Given the description of an element on the screen output the (x, y) to click on. 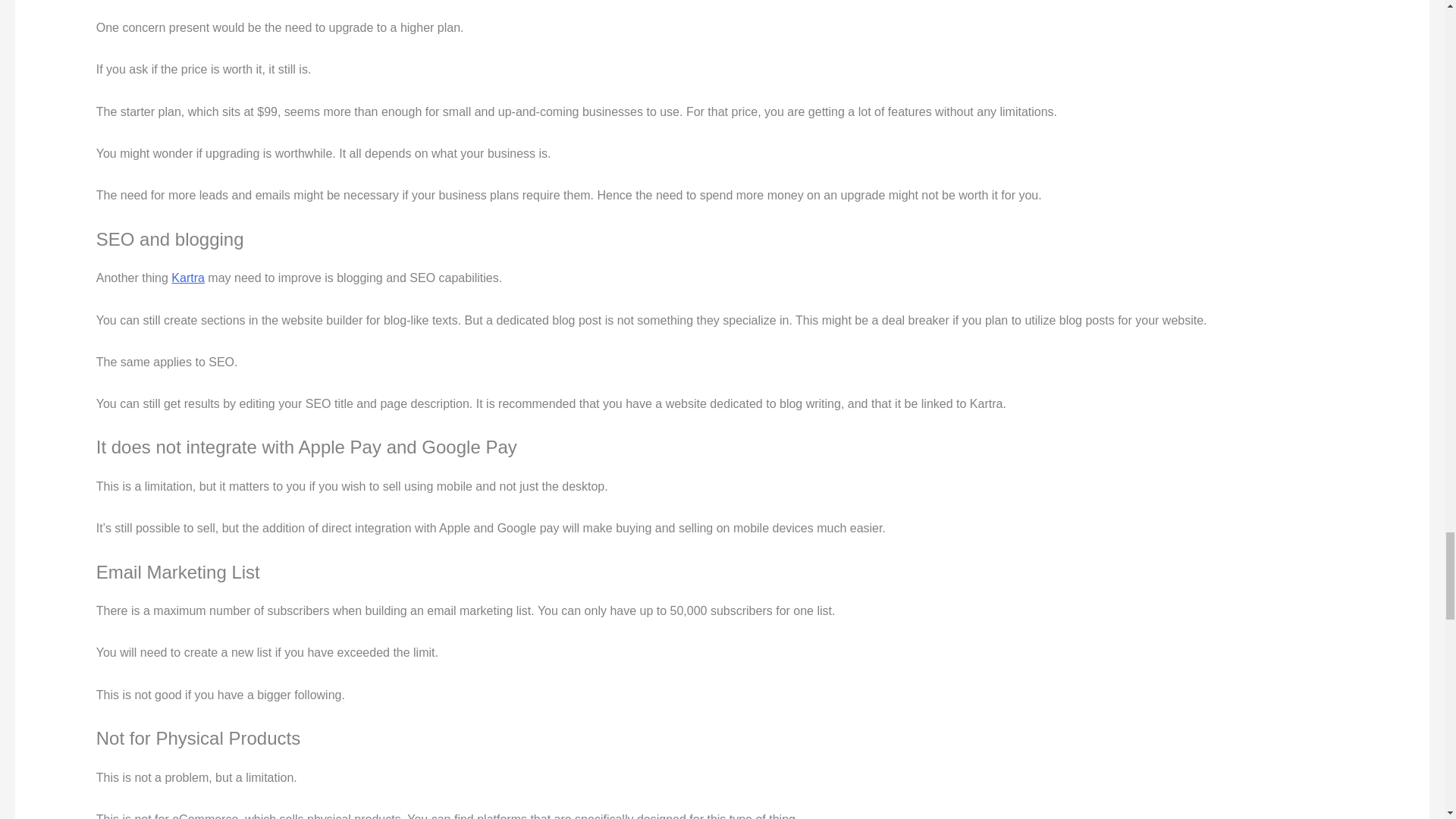
Kartra (188, 277)
